Given the description of an element on the screen output the (x, y) to click on. 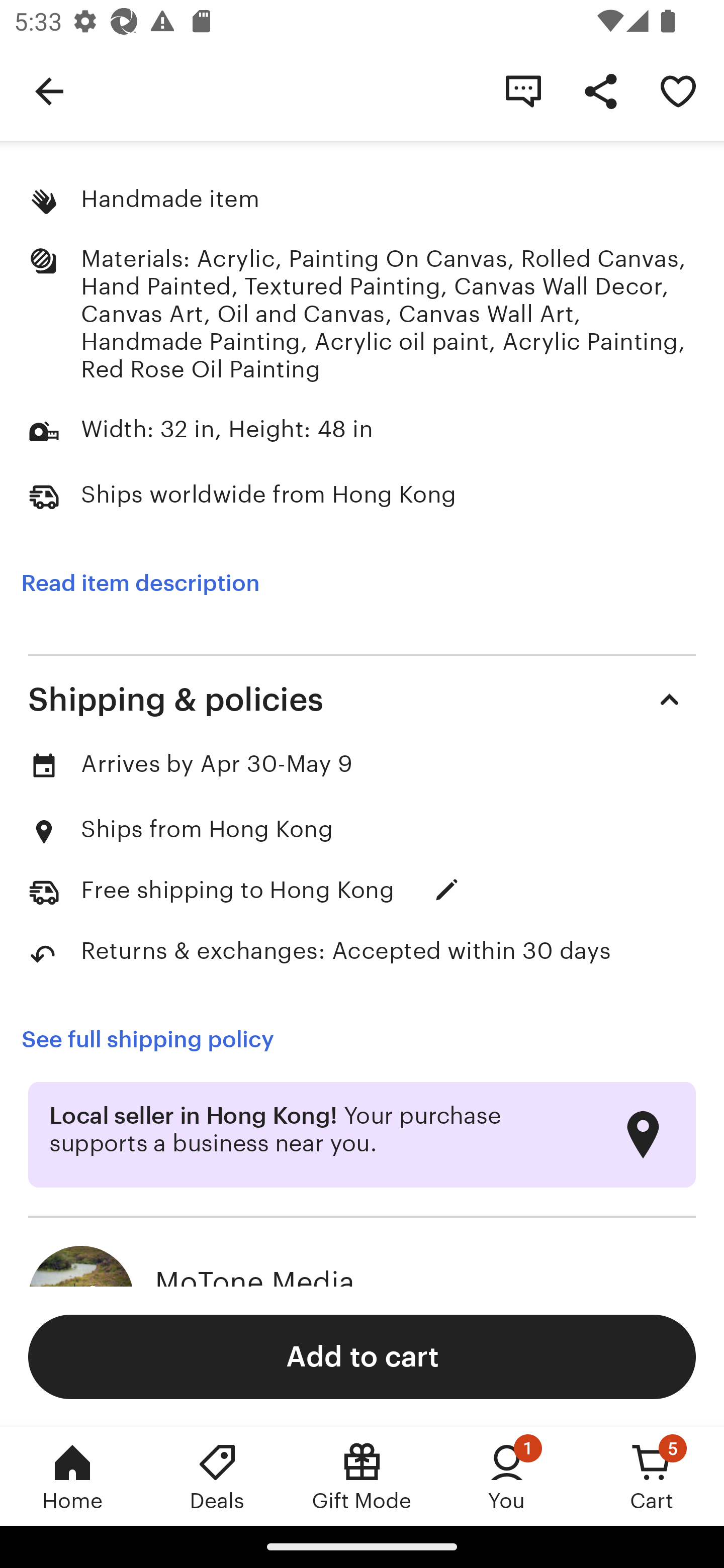
Navigate up (49, 90)
Contact shop (523, 90)
Share (600, 90)
Read item description (140, 582)
Shipping & policies (362, 698)
Update (446, 890)
See full shipping policy (161, 1039)
Add to cart (361, 1355)
Deals (216, 1475)
Gift Mode (361, 1475)
You, 1 new notification You (506, 1475)
Cart, 5 new notifications Cart (651, 1475)
